Given the description of an element on the screen output the (x, y) to click on. 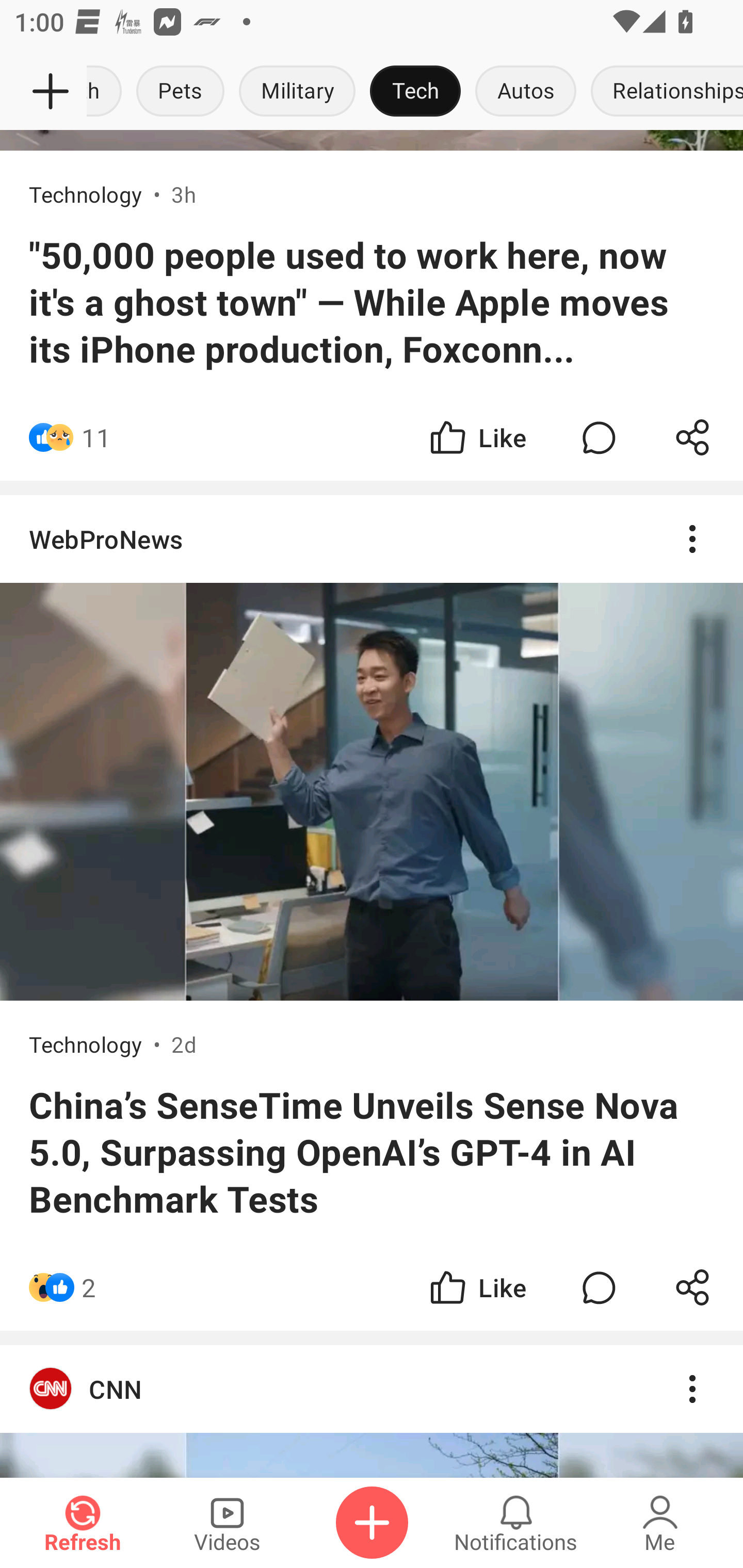
Pets (180, 91)
Military (296, 91)
Tech (415, 91)
Autos (525, 91)
Relationships (663, 91)
11 (244, 437)
11 (95, 437)
Like (476, 437)
WebProNews (371, 539)
2 (244, 1287)
2 (88, 1287)
Like (476, 1287)
CNN (371, 1411)
CNN (371, 1389)
Videos (227, 1522)
Notifications (516, 1522)
Me (659, 1522)
